Given the description of an element on the screen output the (x, y) to click on. 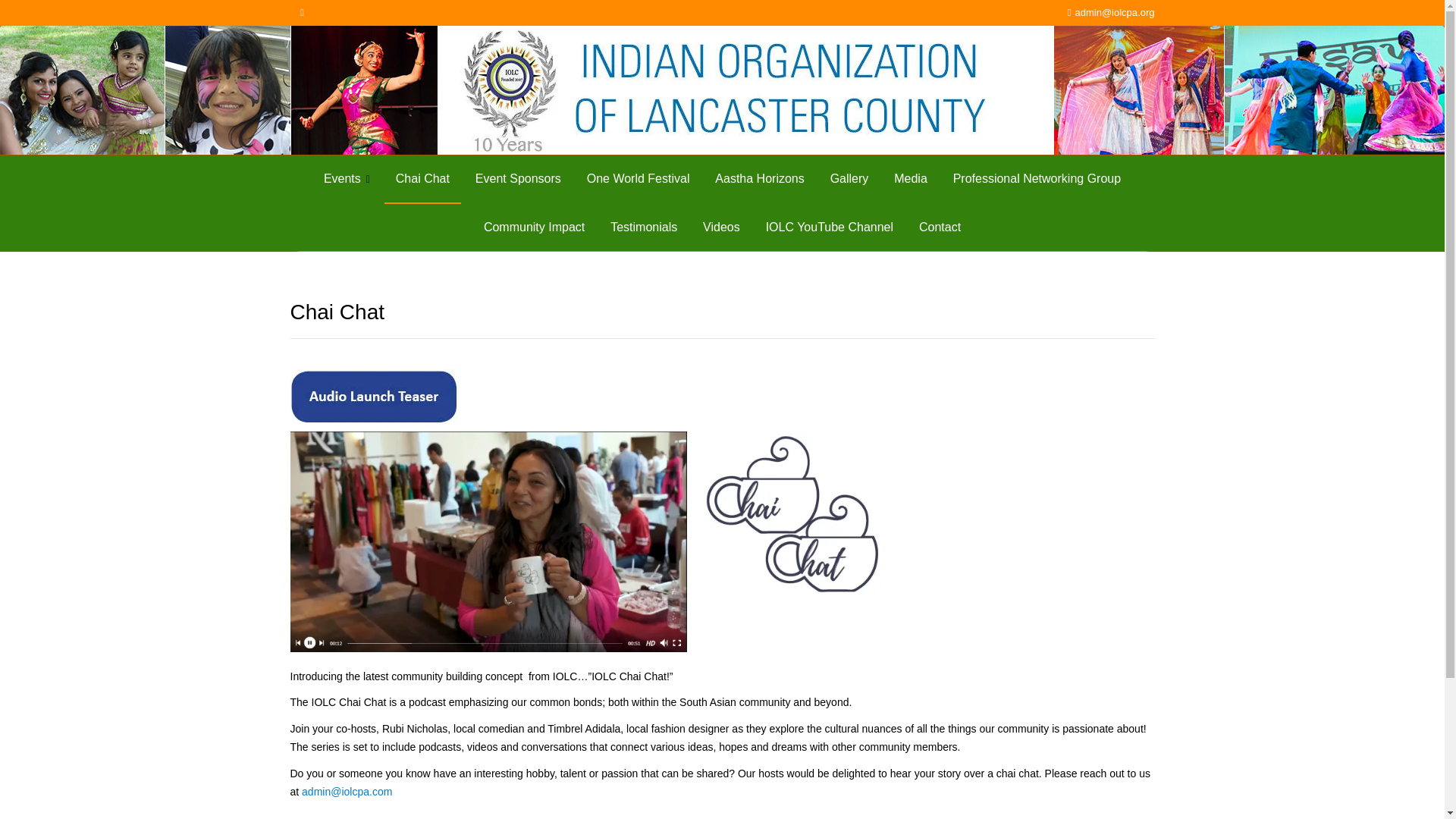
Event Sponsors (518, 178)
One World Festival (638, 178)
IOLC YouTube Channel (829, 226)
Professional Networking Group (1037, 178)
Gallery (849, 178)
Testimonials (643, 226)
Chai Chat (422, 178)
Events (347, 178)
Aastha Horizons (759, 178)
Videos (721, 226)
Media (910, 178)
Facebook (301, 12)
Contact (939, 226)
Community Impact (533, 226)
